Given the description of an element on the screen output the (x, y) to click on. 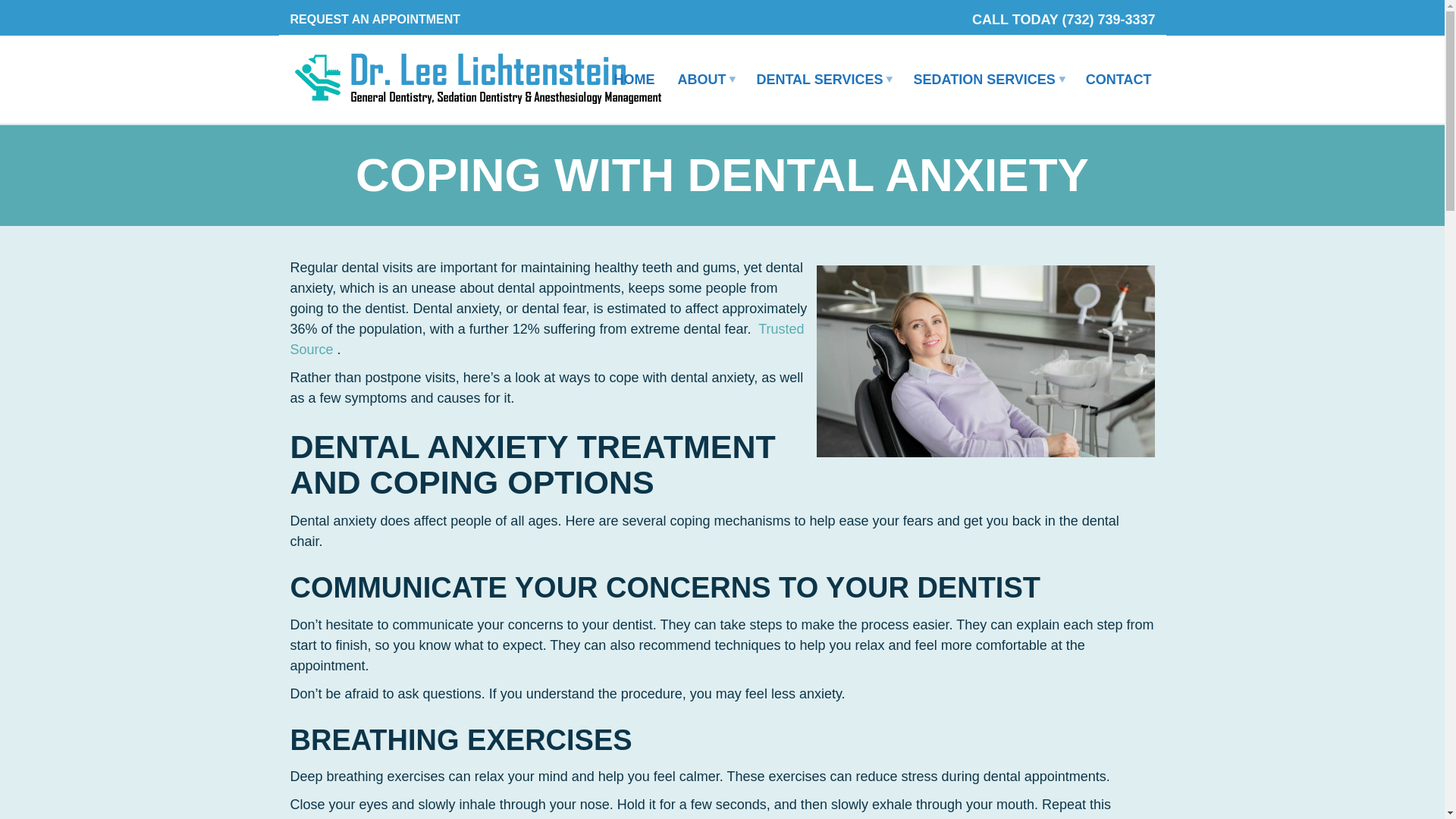
CONTACT (1118, 79)
Dental Services (822, 79)
HOME (633, 79)
About (704, 79)
DENTAL SERVICES (822, 79)
SEDATION SERVICES (987, 79)
REQUEST AN APPOINTMENT (374, 19)
Home (633, 79)
Request an Appointment (374, 19)
 Trusted Source (546, 339)
ABOUT (704, 79)
